Given the description of an element on the screen output the (x, y) to click on. 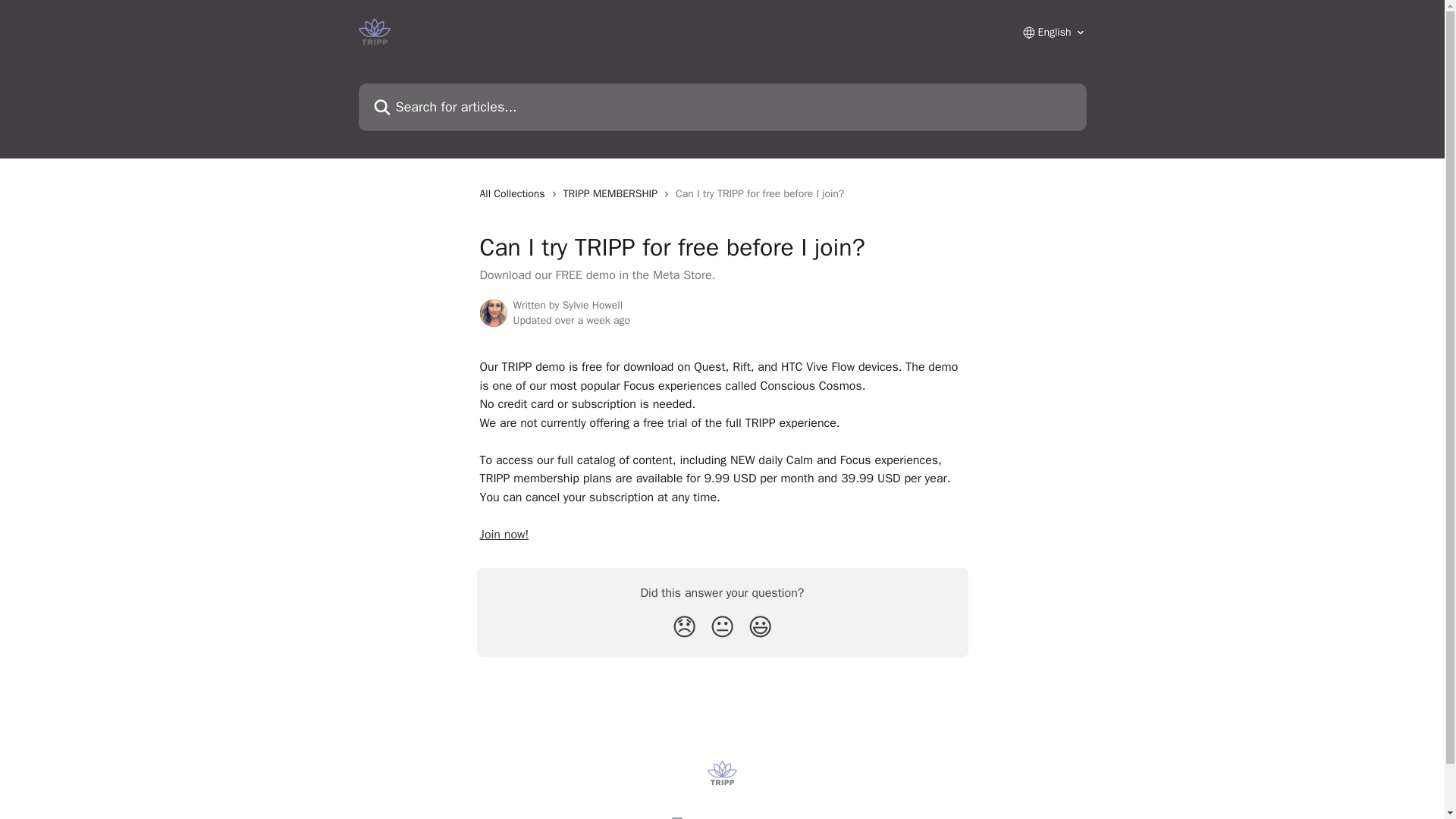
We run on Intercom (727, 816)
TRIPP MEMBERSHIP (613, 193)
All Collections (514, 193)
Join now! (503, 534)
